Given the description of an element on the screen output the (x, y) to click on. 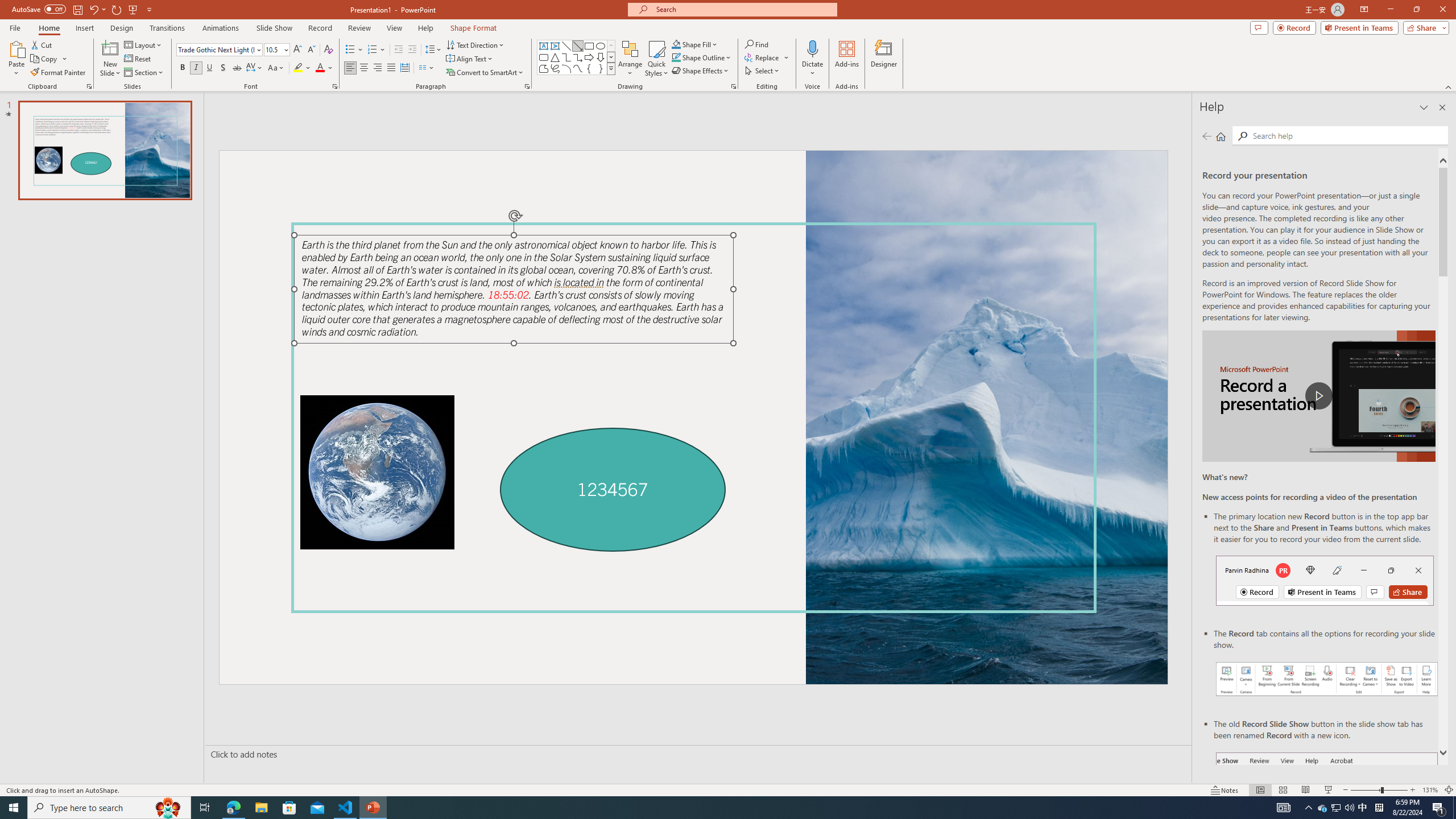
Record your presentations screenshot one (1326, 678)
